Given the description of an element on the screen output the (x, y) to click on. 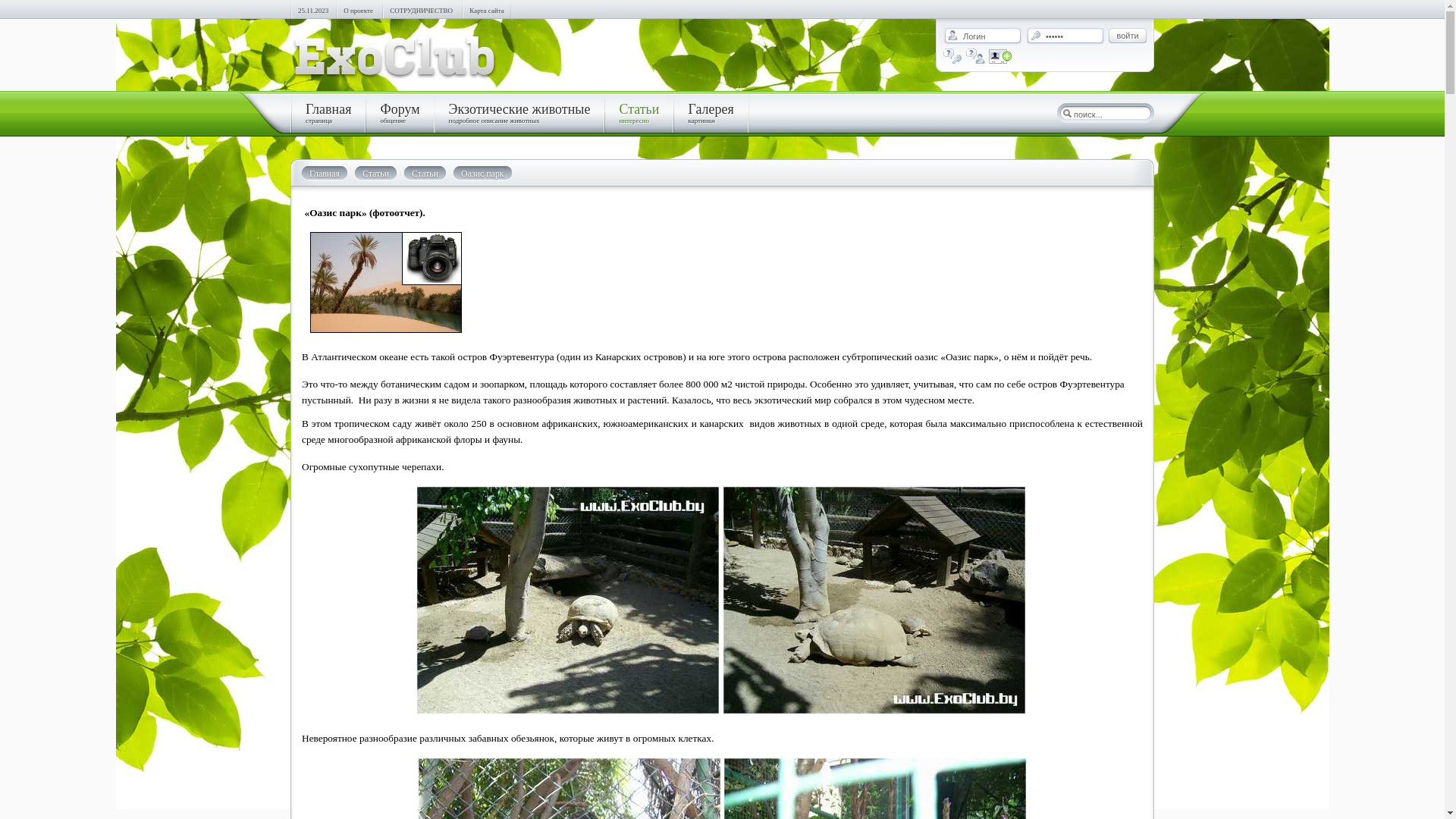
Search Element type: text (1066, 112)
